Given the description of an element on the screen output the (x, y) to click on. 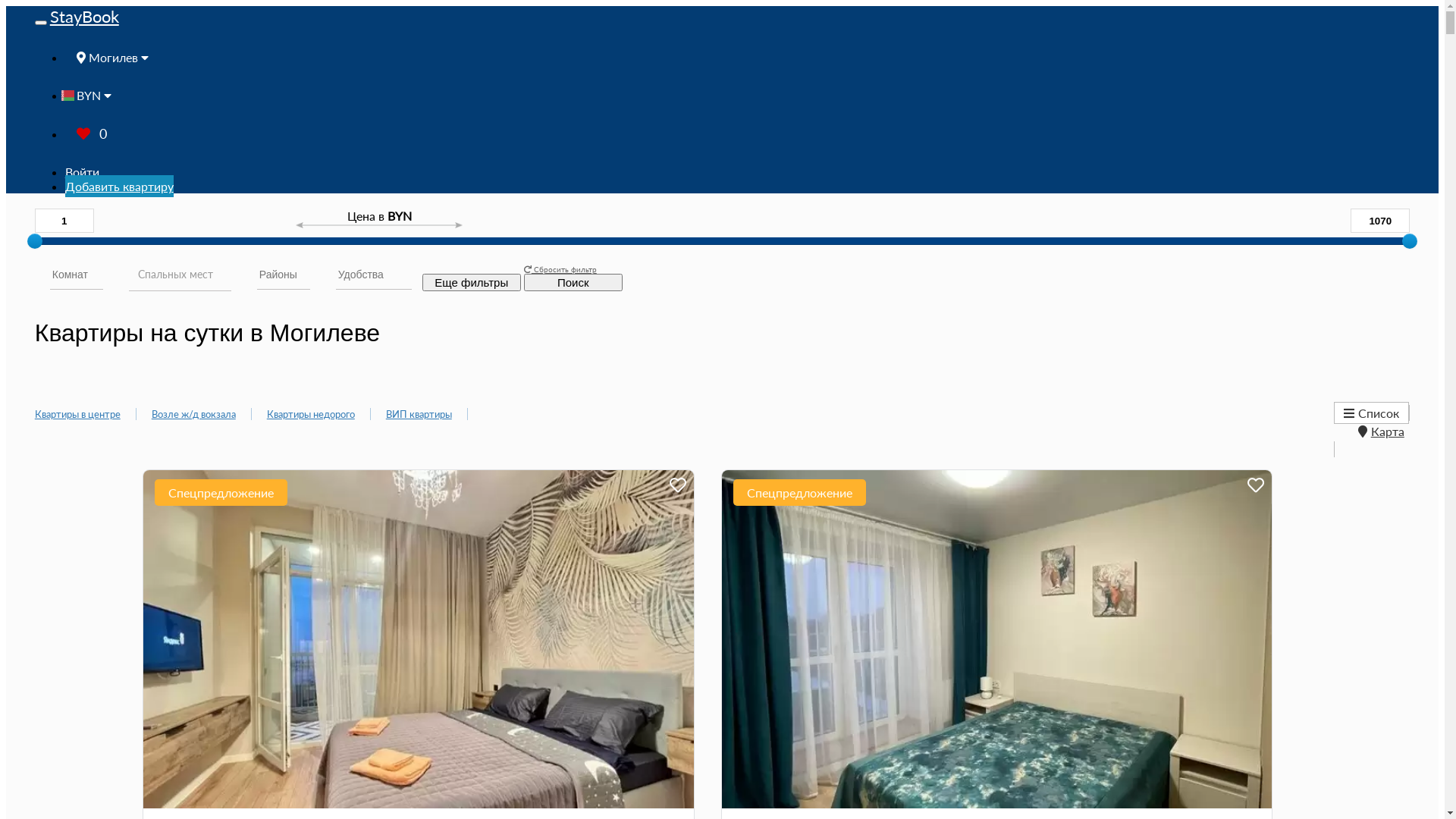
StayBook Element type: text (84, 16)
Toggle navigation Element type: text (40, 22)
0 Element type: text (91, 133)
